Given the description of an element on the screen output the (x, y) to click on. 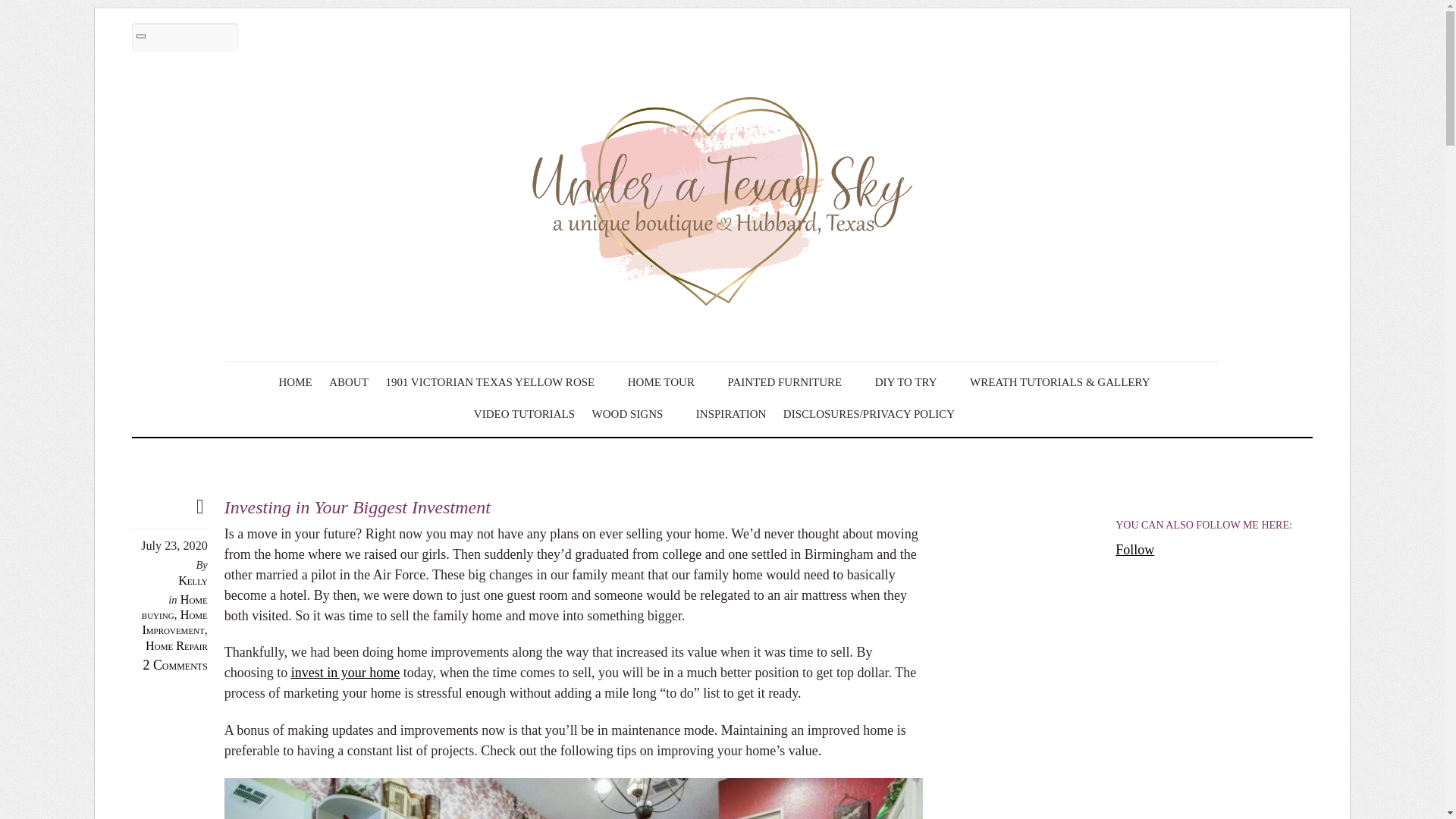
PAINTED FURNITURE (792, 382)
1901 VICTORIAN TEXAS YELLOW ROSE (497, 382)
ABOUT (348, 382)
Under a Texas Sky (722, 324)
HOME (295, 382)
HOME TOUR (669, 382)
Home (295, 382)
Search (185, 37)
